Given the description of an element on the screen output the (x, y) to click on. 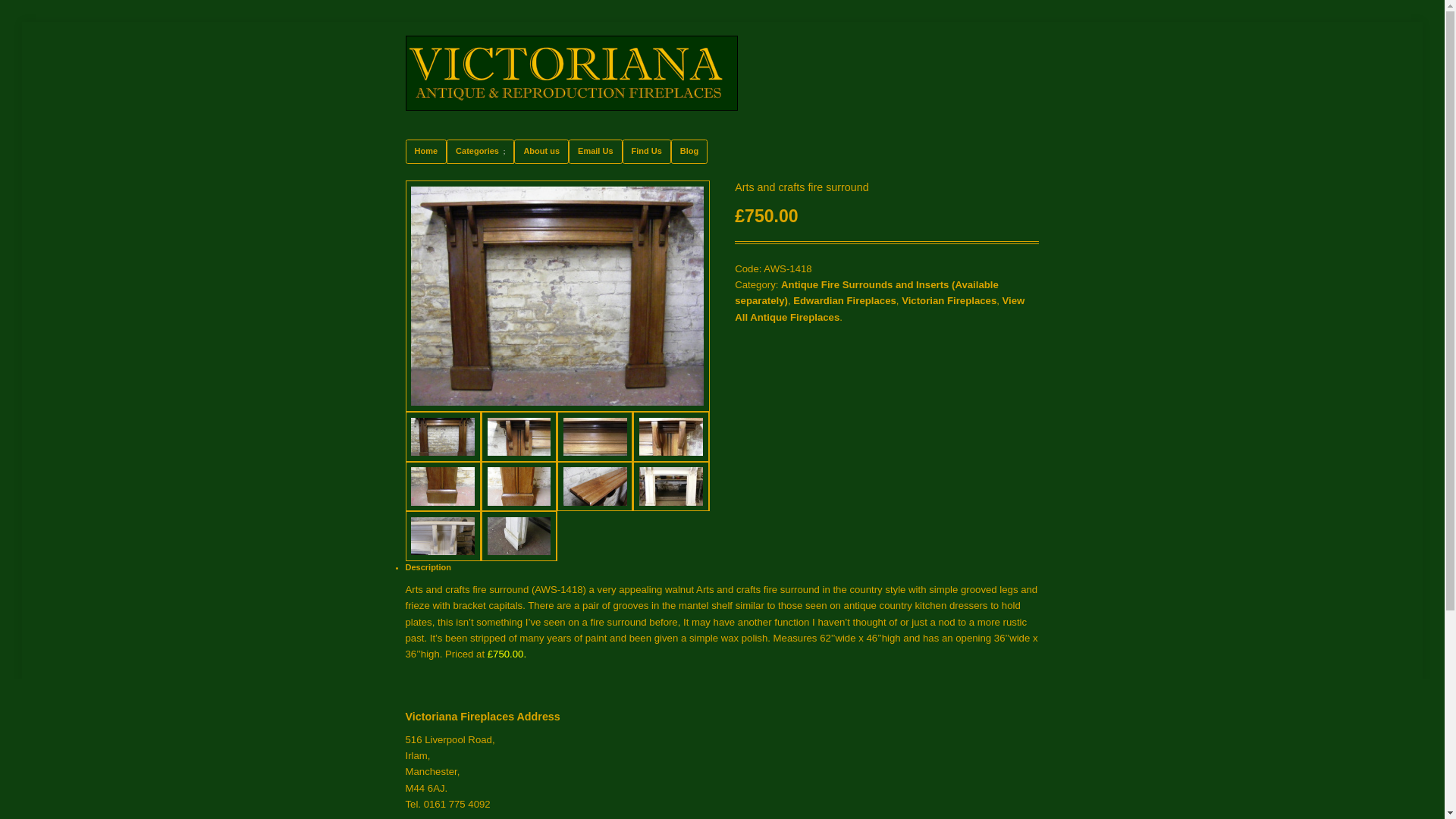
Description (428, 566)
AWS-1418 (443, 436)
UNRESTORED (671, 486)
AWS-1418 (558, 403)
AWS-1418-4 (671, 436)
Home (426, 150)
Blog (689, 150)
AWS-1418-3 (595, 436)
Email Us (595, 150)
AWS-1418-7 (595, 486)
